Given the description of an element on the screen output the (x, y) to click on. 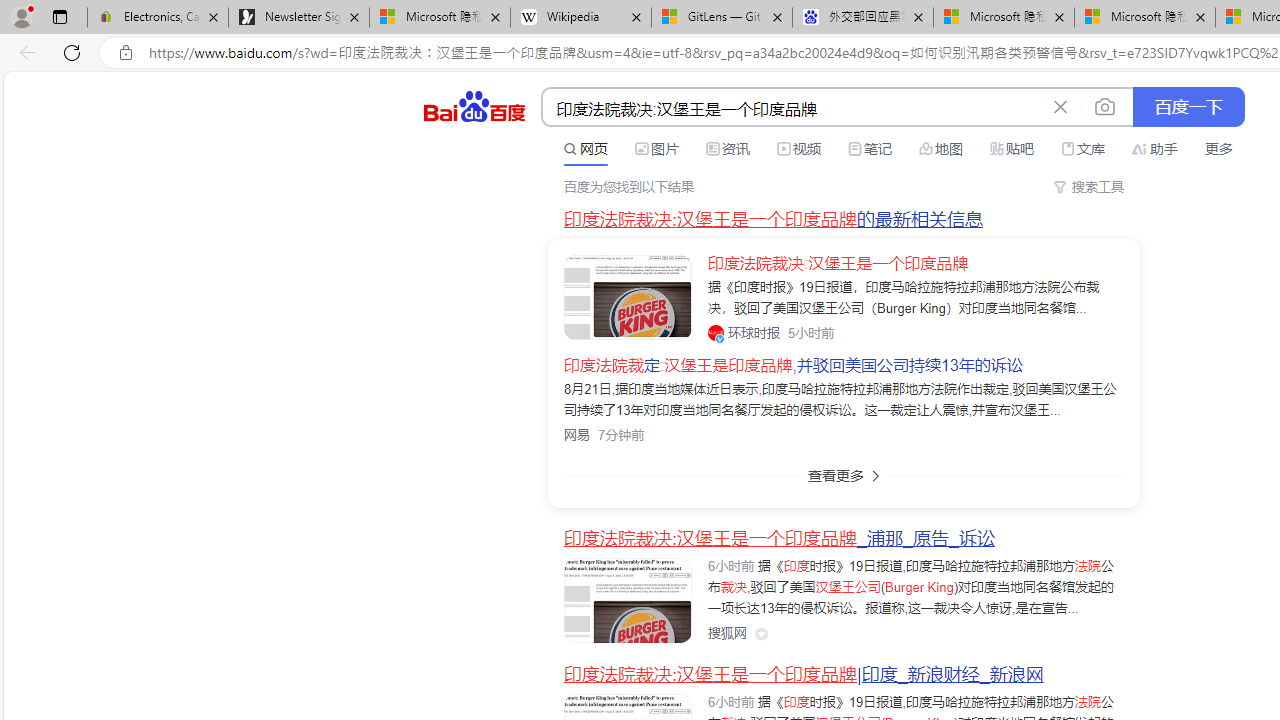
Electronics, Cars, Fashion, Collectibles & More | eBay (157, 17)
AutomationID: kw (793, 107)
Newsletter Sign Up (298, 17)
